Given the description of an element on the screen output the (x, y) to click on. 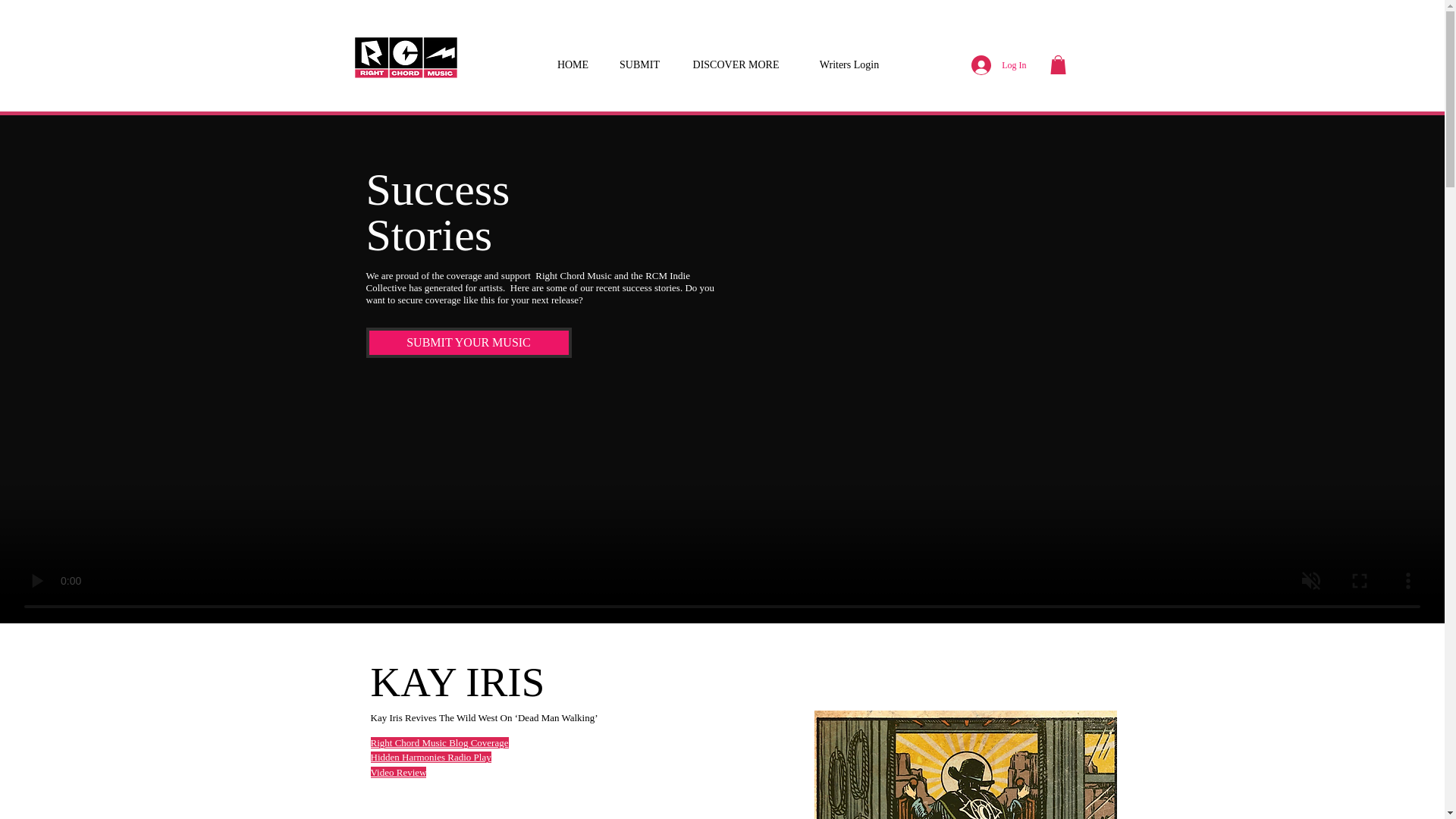
SUBMIT (639, 58)
Right Chord Music Blog Logo (405, 57)
Right Chord Music Blog Coverage (438, 742)
Hidden Harmonies Radio Play (429, 756)
SUBMIT YOUR MUSIC (467, 342)
HOME (572, 58)
Writers Login (849, 58)
Log In (998, 64)
